Given the description of an element on the screen output the (x, y) to click on. 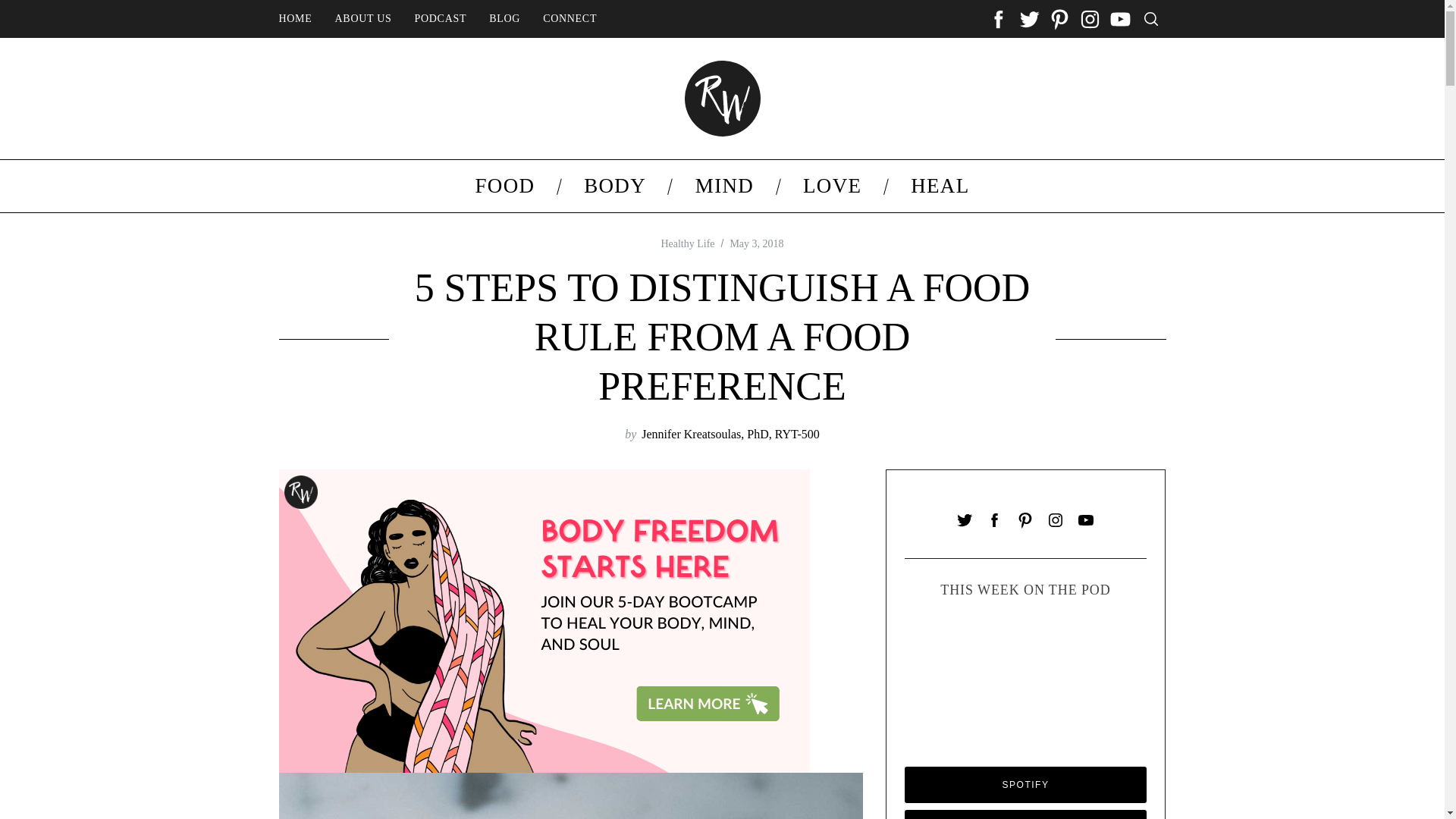
ABOUT US (363, 19)
BODY (615, 185)
HOME (294, 19)
BLOG (504, 19)
MIND (723, 185)
LOVE (832, 185)
CONNECT (569, 19)
PODCAST (441, 19)
